Given the description of an element on the screen output the (x, y) to click on. 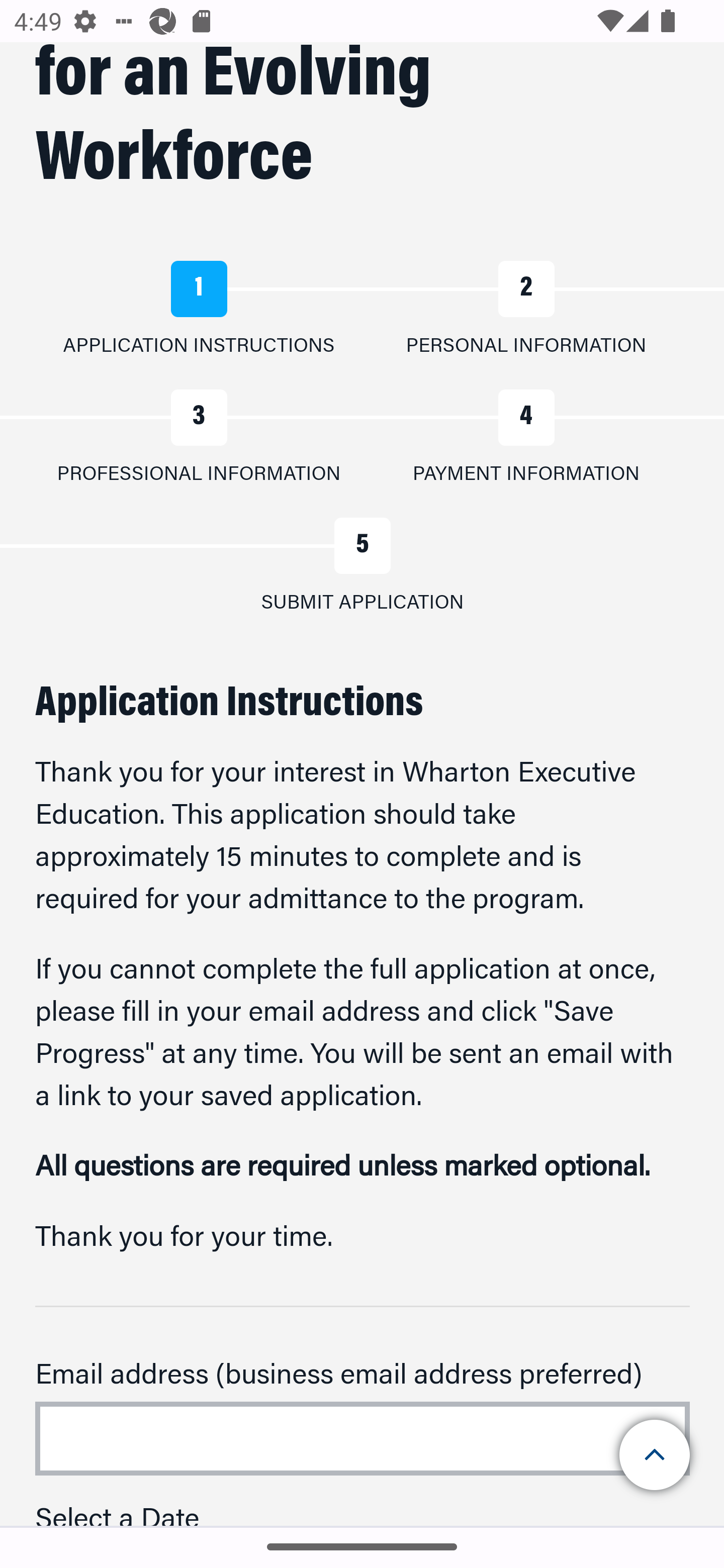
 (655, 1455)
